Given the description of an element on the screen output the (x, y) to click on. 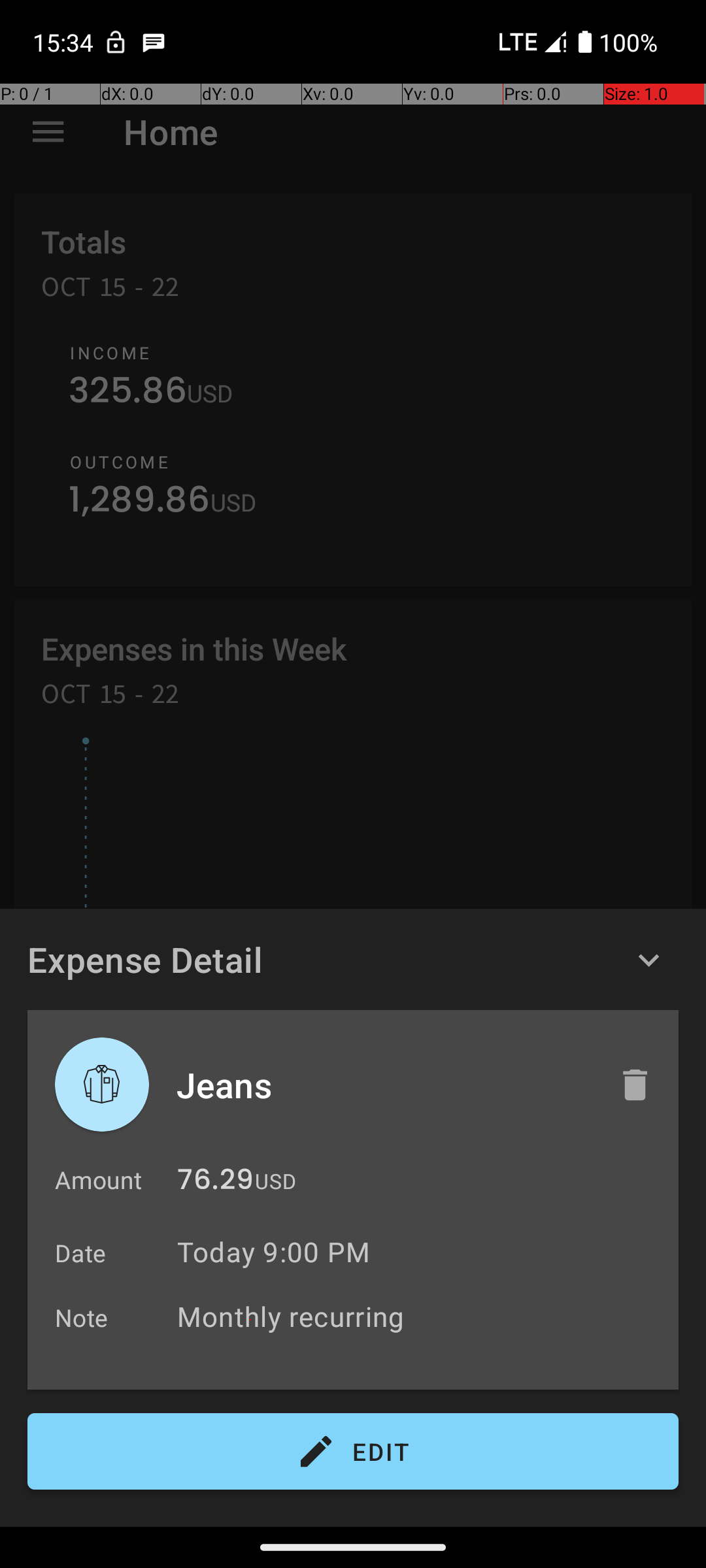
Jeans Element type: android.widget.TextView (383, 1084)
76.29 Element type: android.widget.TextView (215, 1182)
Today 9:00 PM Element type: android.widget.TextView (273, 1251)
